Given the description of an element on the screen output the (x, y) to click on. 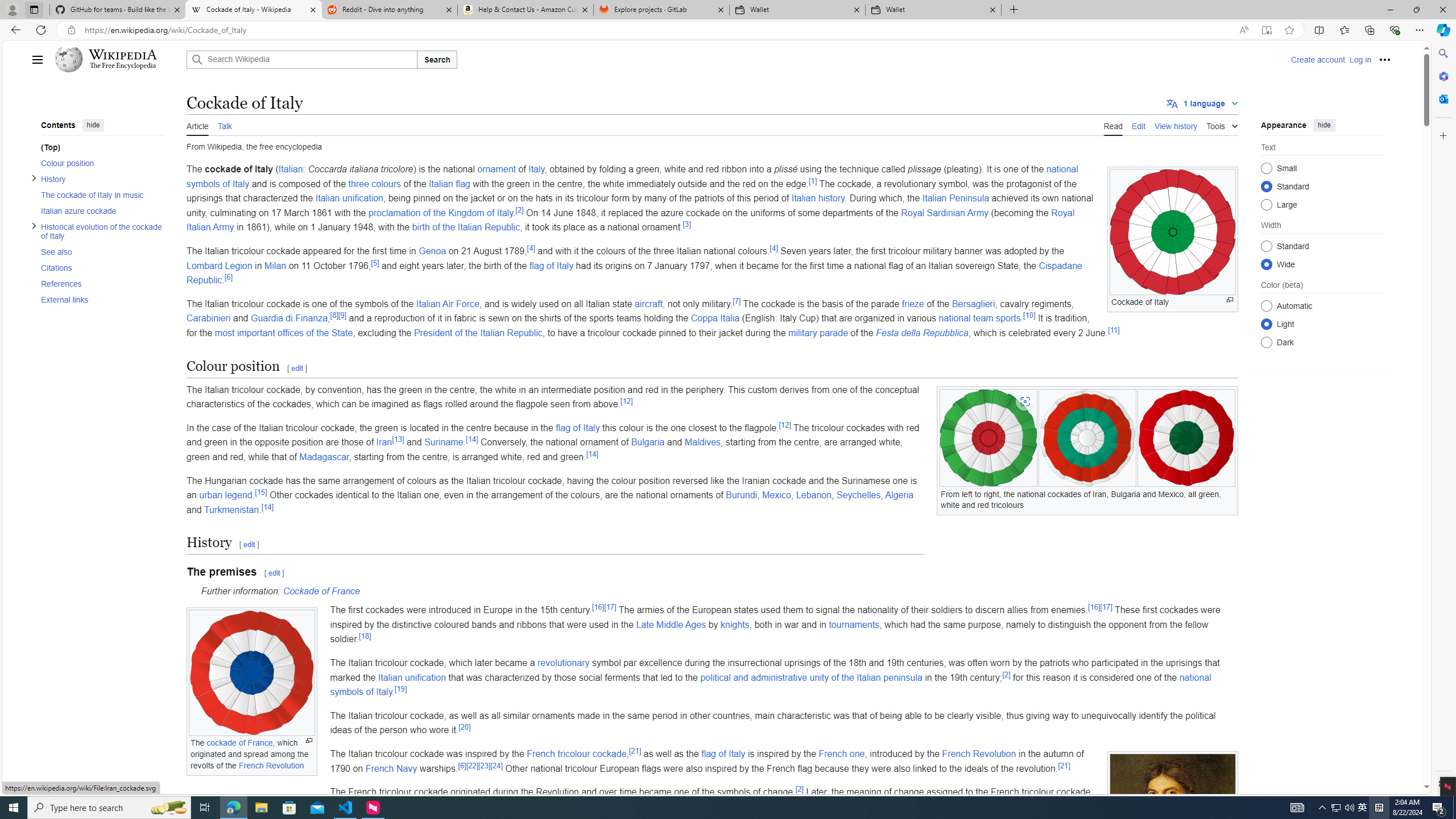
[15] (260, 491)
Article (197, 124)
[10] (1029, 315)
Coppa Italia (714, 318)
[18] (364, 636)
Bulgaria (647, 442)
References (98, 283)
[16] (1093, 606)
Turkmenistan (231, 509)
Carabinieri (208, 318)
Madagascar (323, 457)
